Given the description of an element on the screen output the (x, y) to click on. 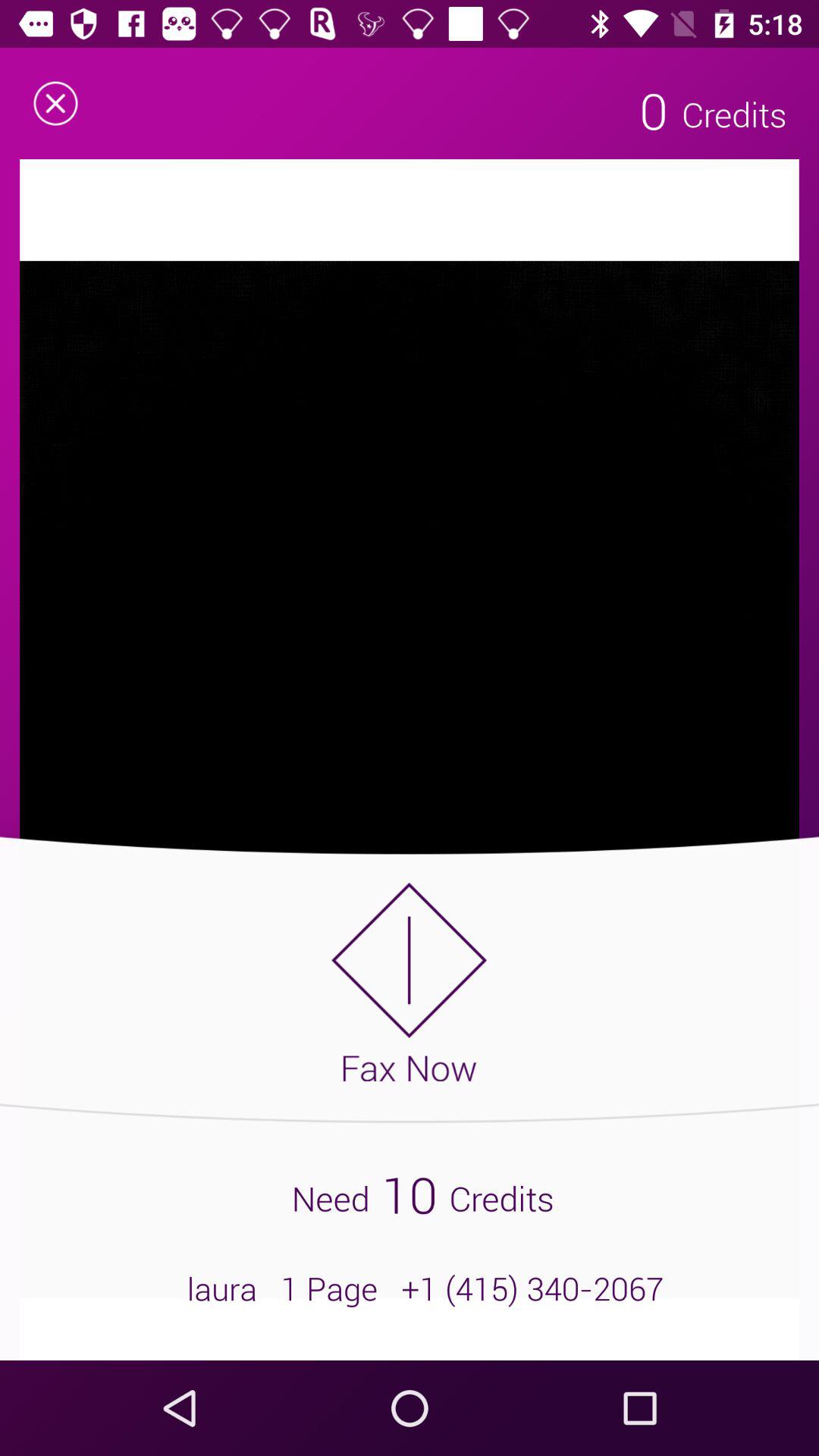
swipe to the 0 (653, 109)
